Given the description of an element on the screen output the (x, y) to click on. 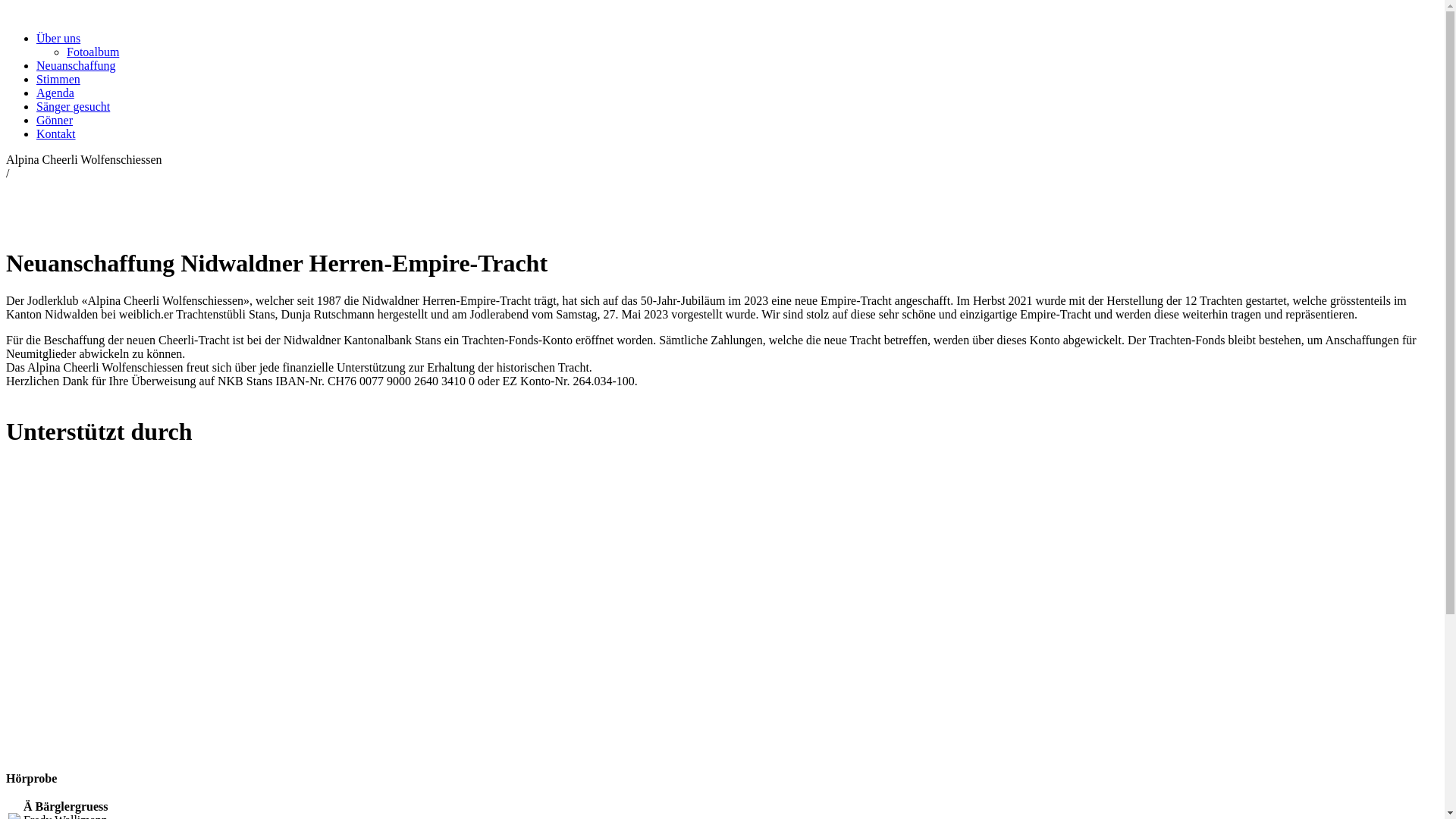
Fotoalbum Element type: text (92, 51)
Neuanschaffung Element type: text (76, 65)
Kontakt Element type: text (55, 133)
Stimmen Element type: text (58, 78)
Agenda Element type: text (55, 92)
